Given the description of an element on the screen output the (x, y) to click on. 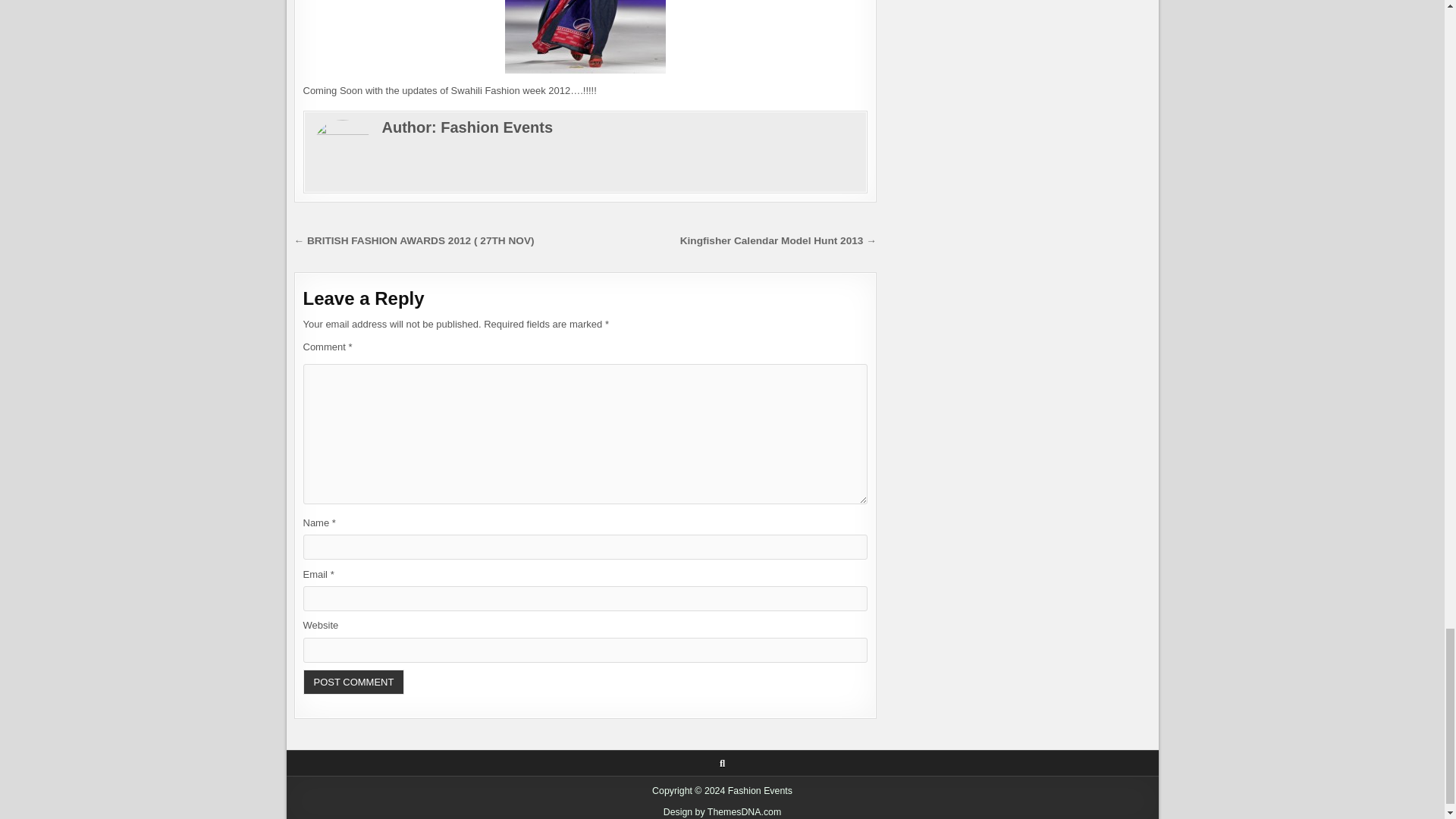
Post Comment (353, 681)
Post Comment (353, 681)
IMG 10 (585, 36)
